Given the description of an element on the screen output the (x, y) to click on. 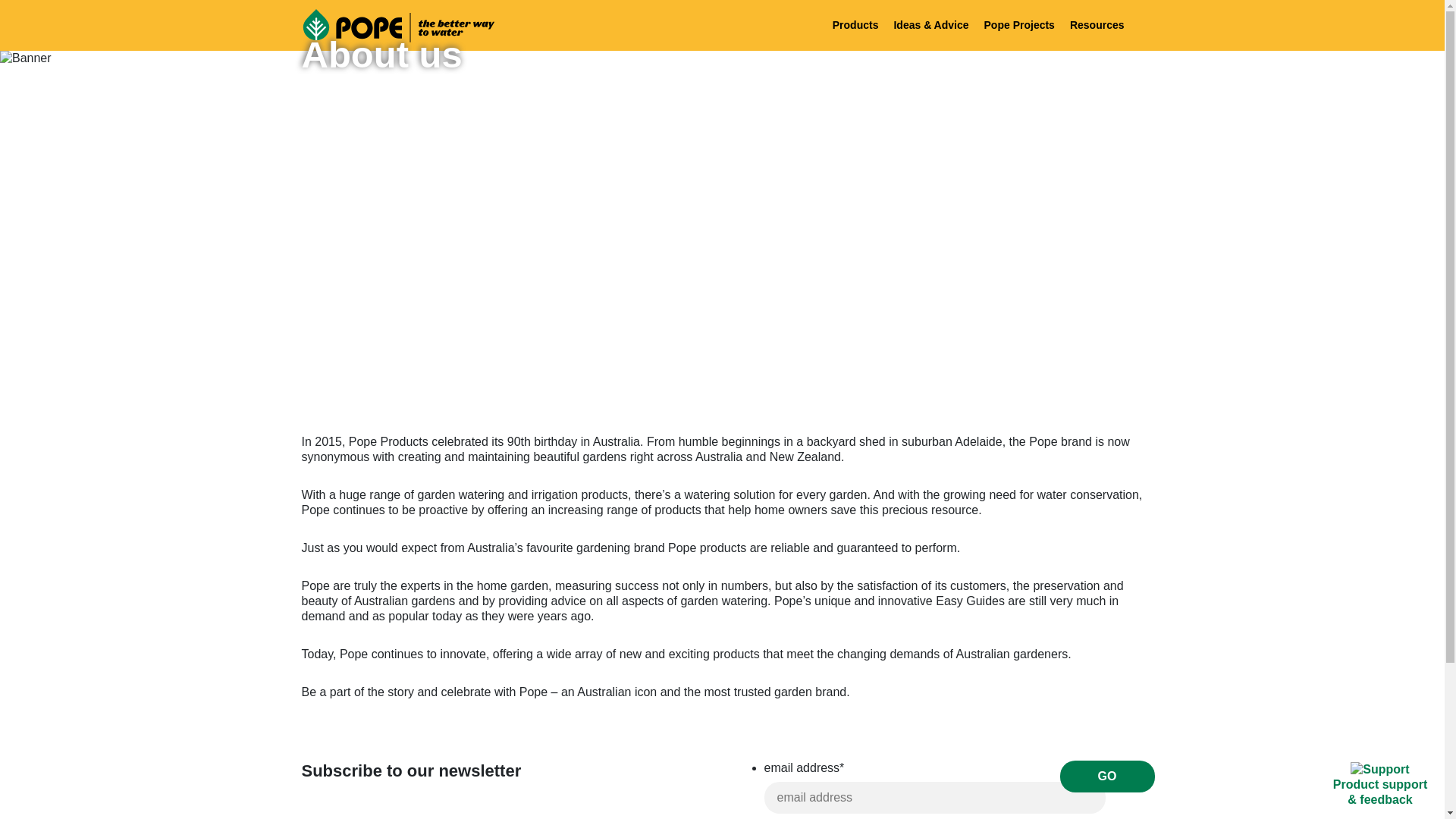
Resources (1097, 24)
Go (1106, 776)
Go (1106, 776)
Products (855, 24)
Pope Projects (1019, 24)
